Given the description of an element on the screen output the (x, y) to click on. 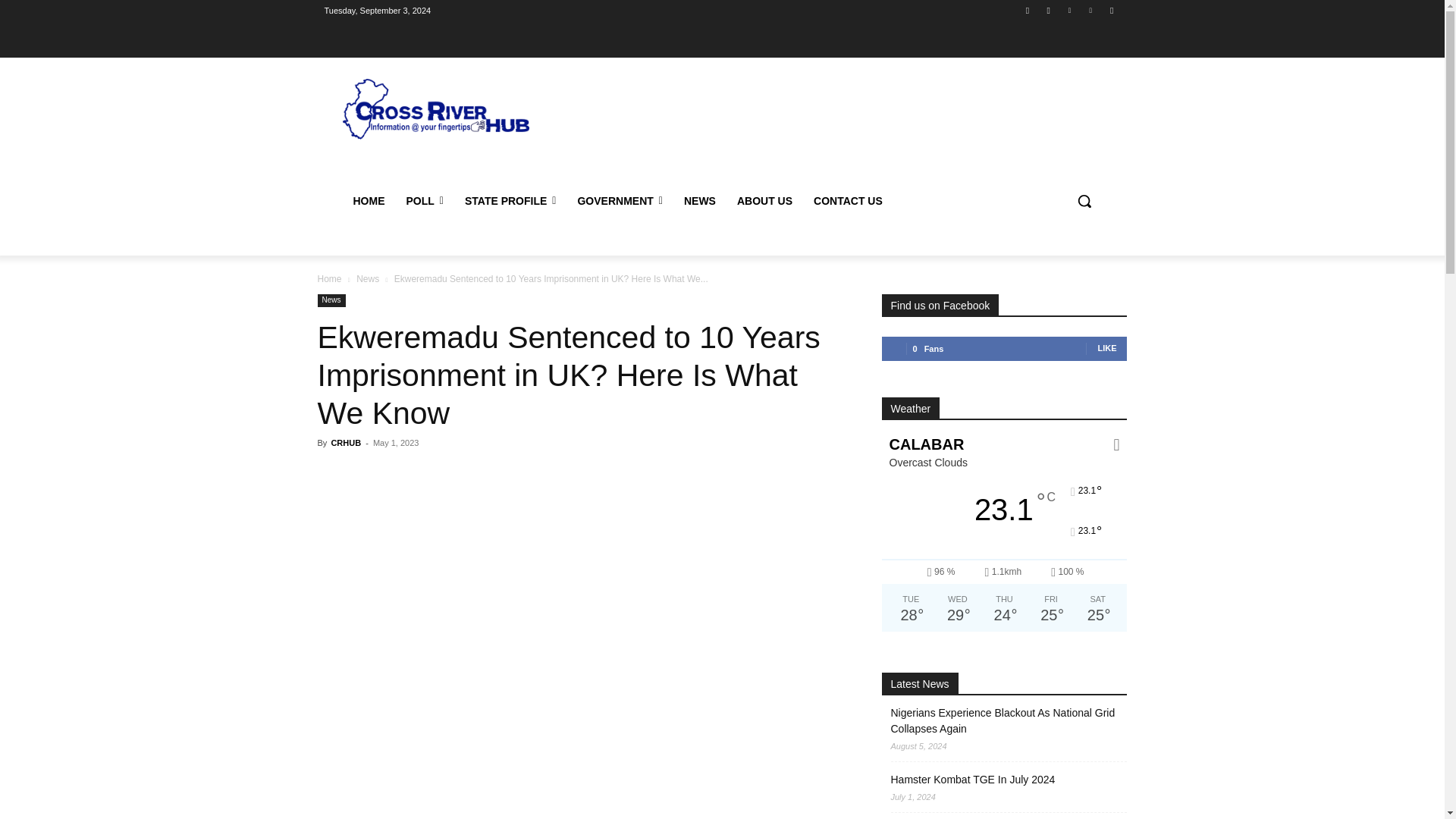
Youtube (1112, 9)
Twitter (1069, 9)
View all posts in News (367, 278)
Facebook (1027, 9)
Instagram (1048, 9)
Vimeo (1090, 9)
